Given the description of an element on the screen output the (x, y) to click on. 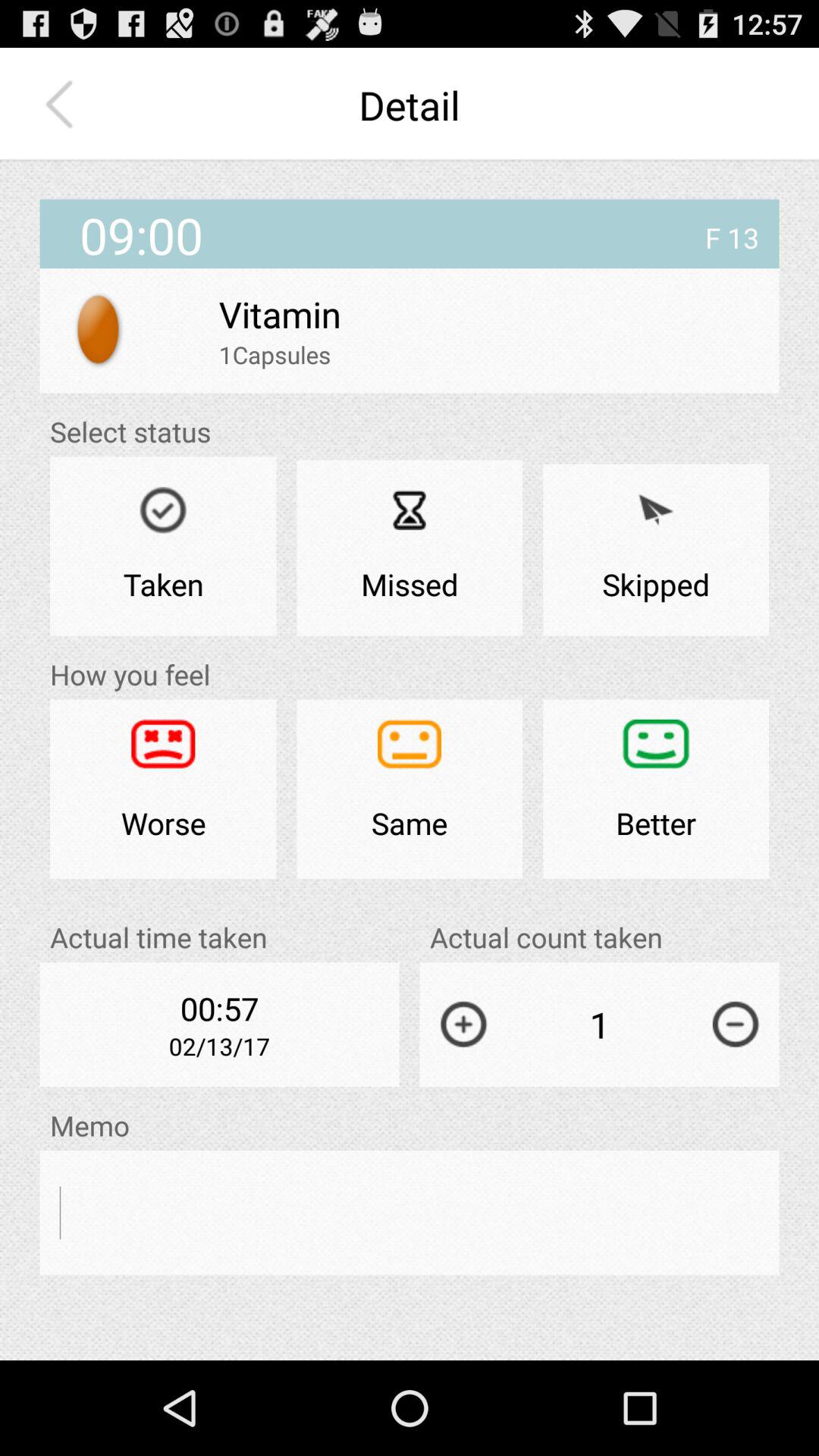
tap worse (163, 788)
